Given the description of an element on the screen output the (x, y) to click on. 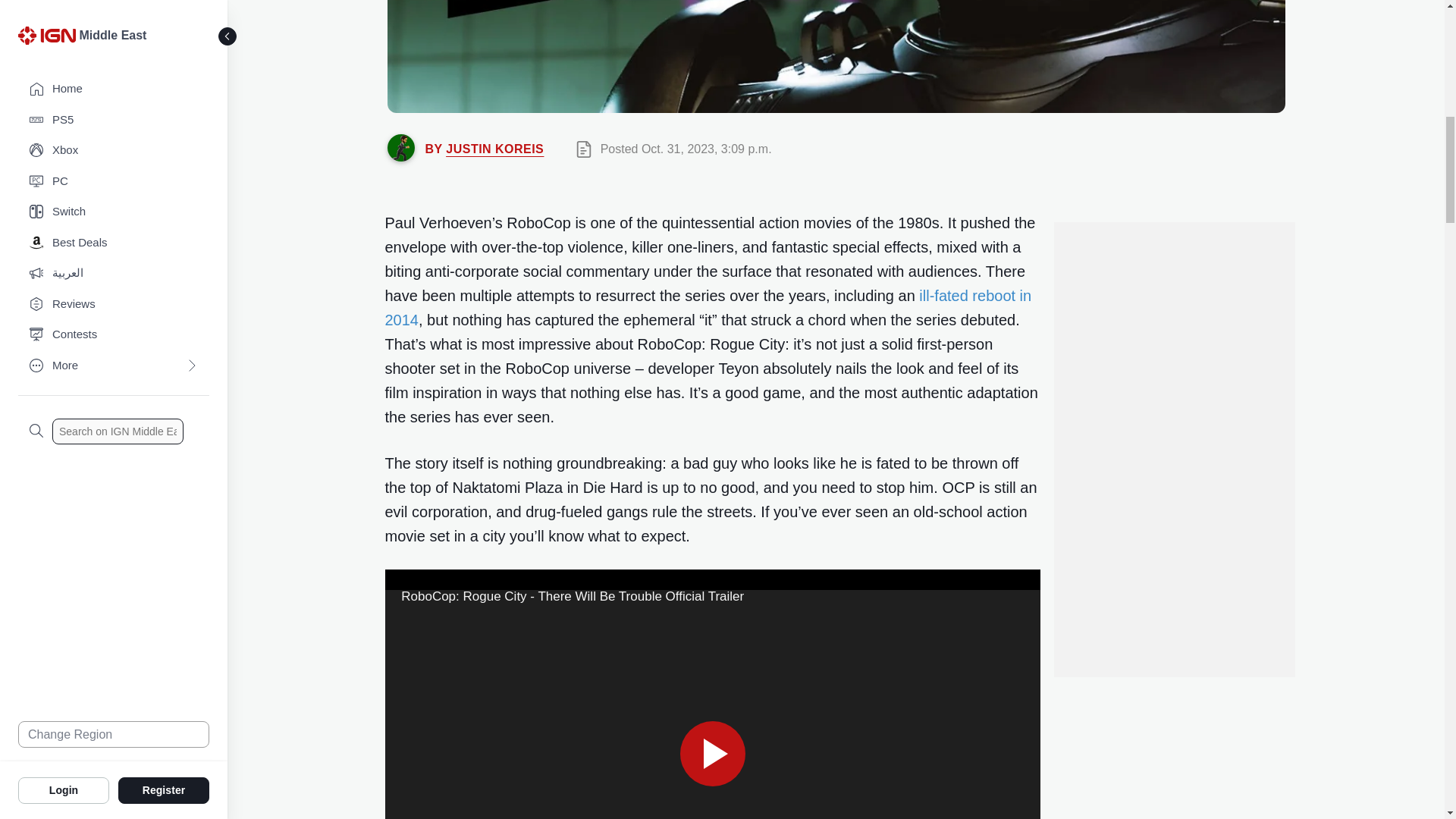
JUSTIN KOREIS (494, 148)
